Given the description of an element on the screen output the (x, y) to click on. 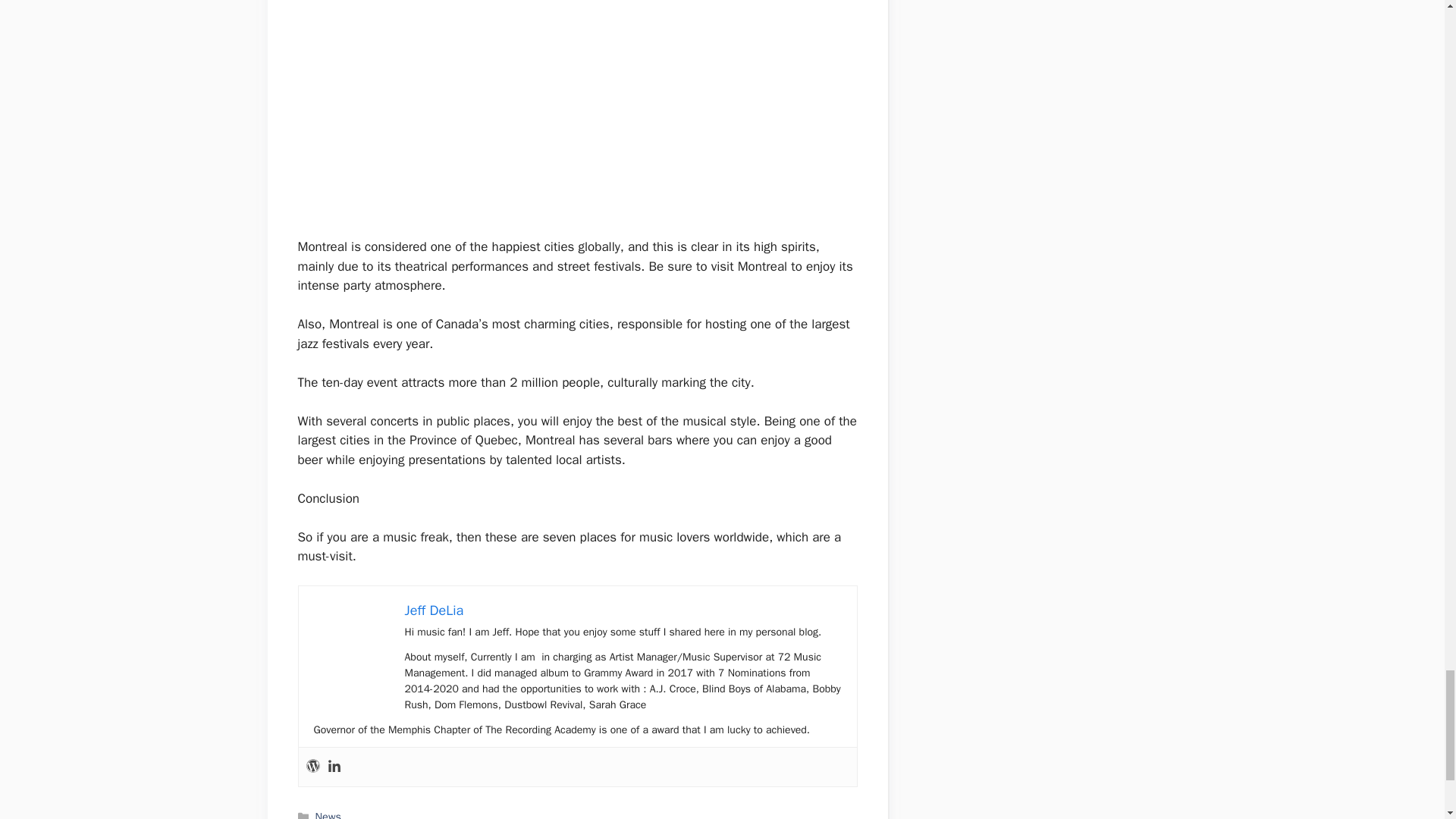
Jeff DeLia (434, 610)
News (327, 814)
